Given the description of an element on the screen output the (x, y) to click on. 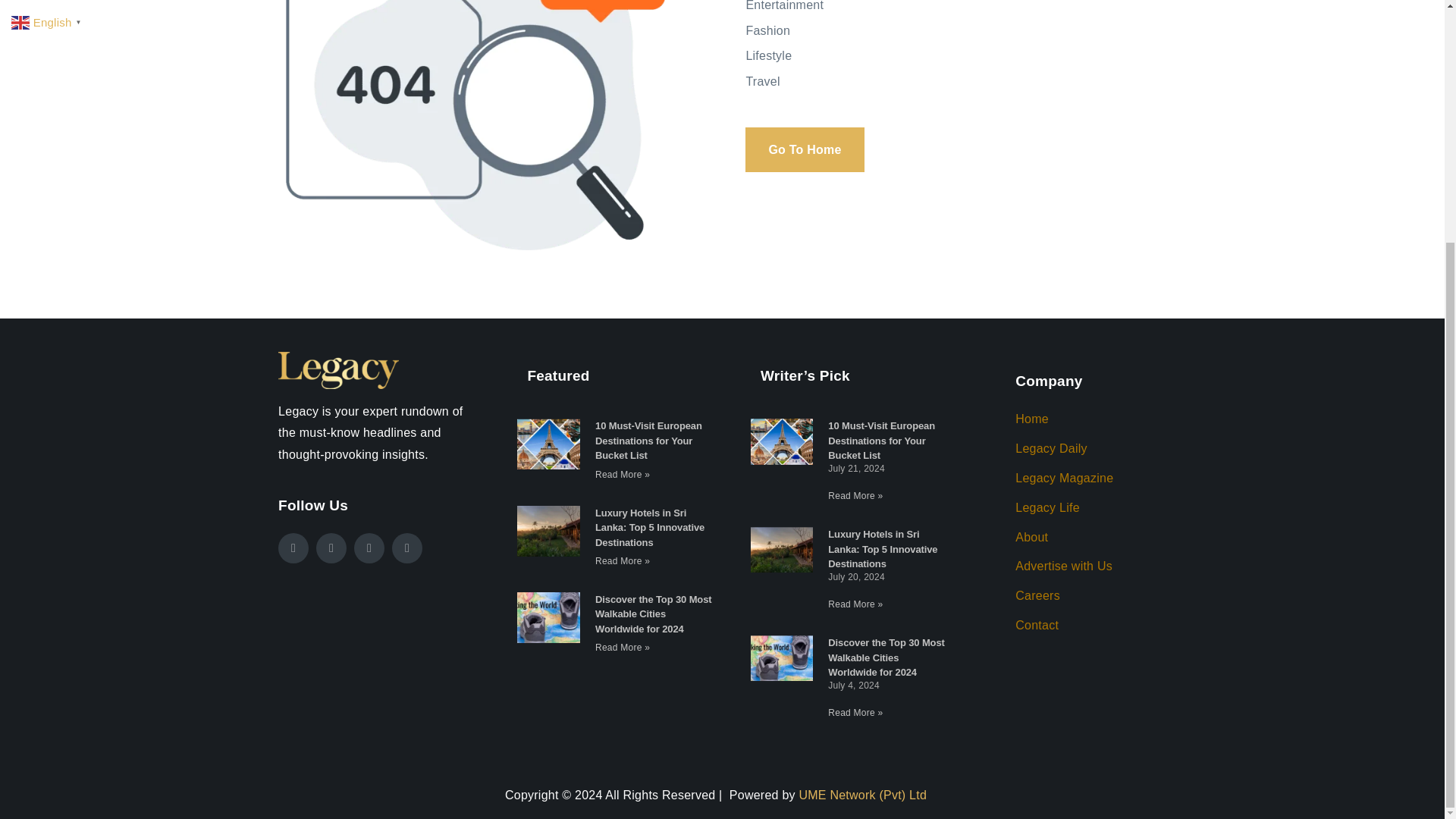
Legacy-logo-2 (338, 370)
Entertainment (968, 8)
Lifestyle (968, 56)
Fashion (968, 31)
Go To Home (804, 149)
Travel (968, 82)
